Given the description of an element on the screen output the (x, y) to click on. 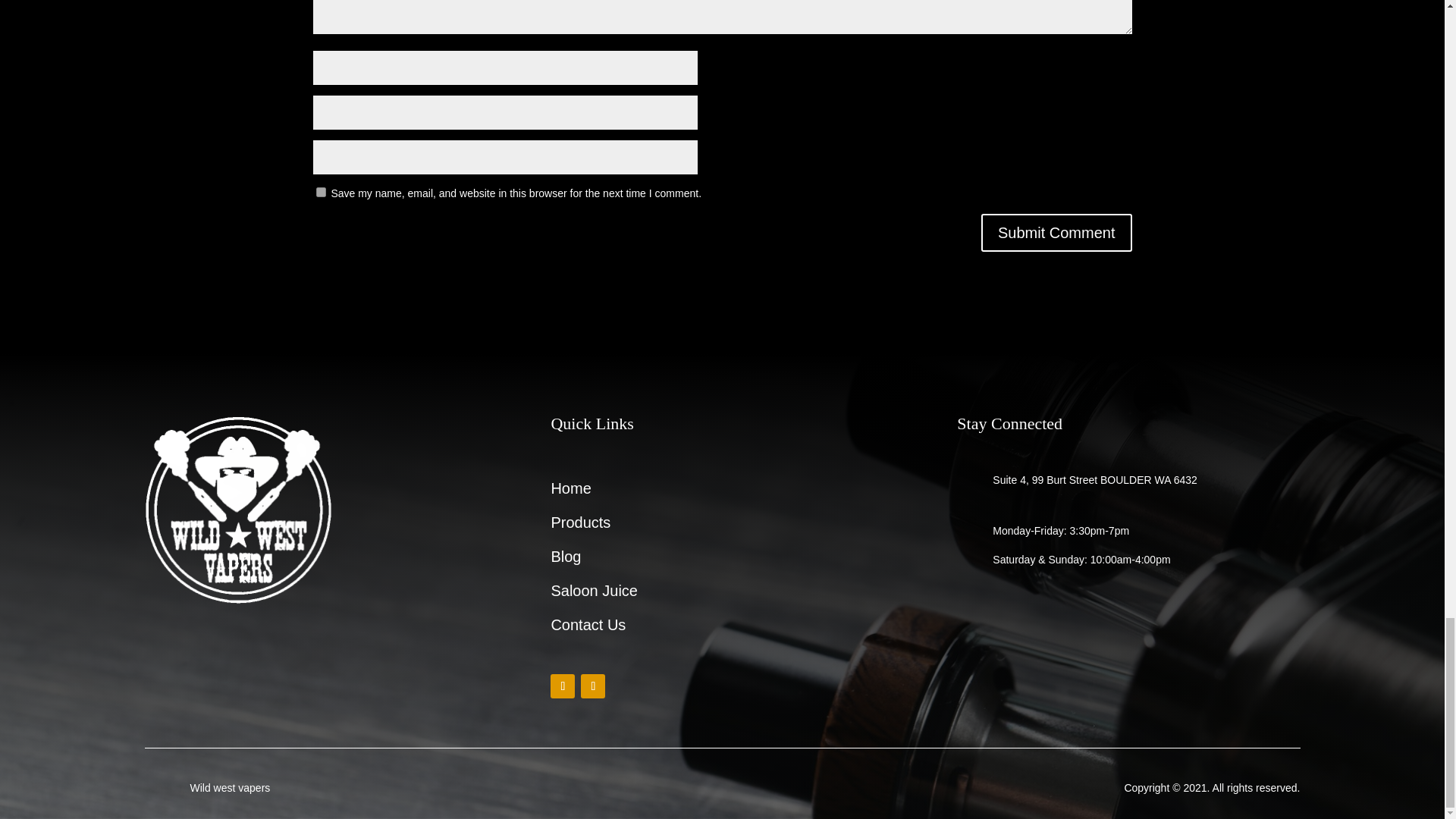
yes (319, 192)
Wild-West-Vapers-Logo (238, 509)
Home (570, 491)
Submit Comment (1056, 232)
Saloon Juice (593, 593)
Submit Comment (1056, 232)
Contact Us (588, 628)
Follow on Facebook (562, 686)
Follow on Instagram (592, 686)
Products (580, 525)
